Given the description of an element on the screen output the (x, y) to click on. 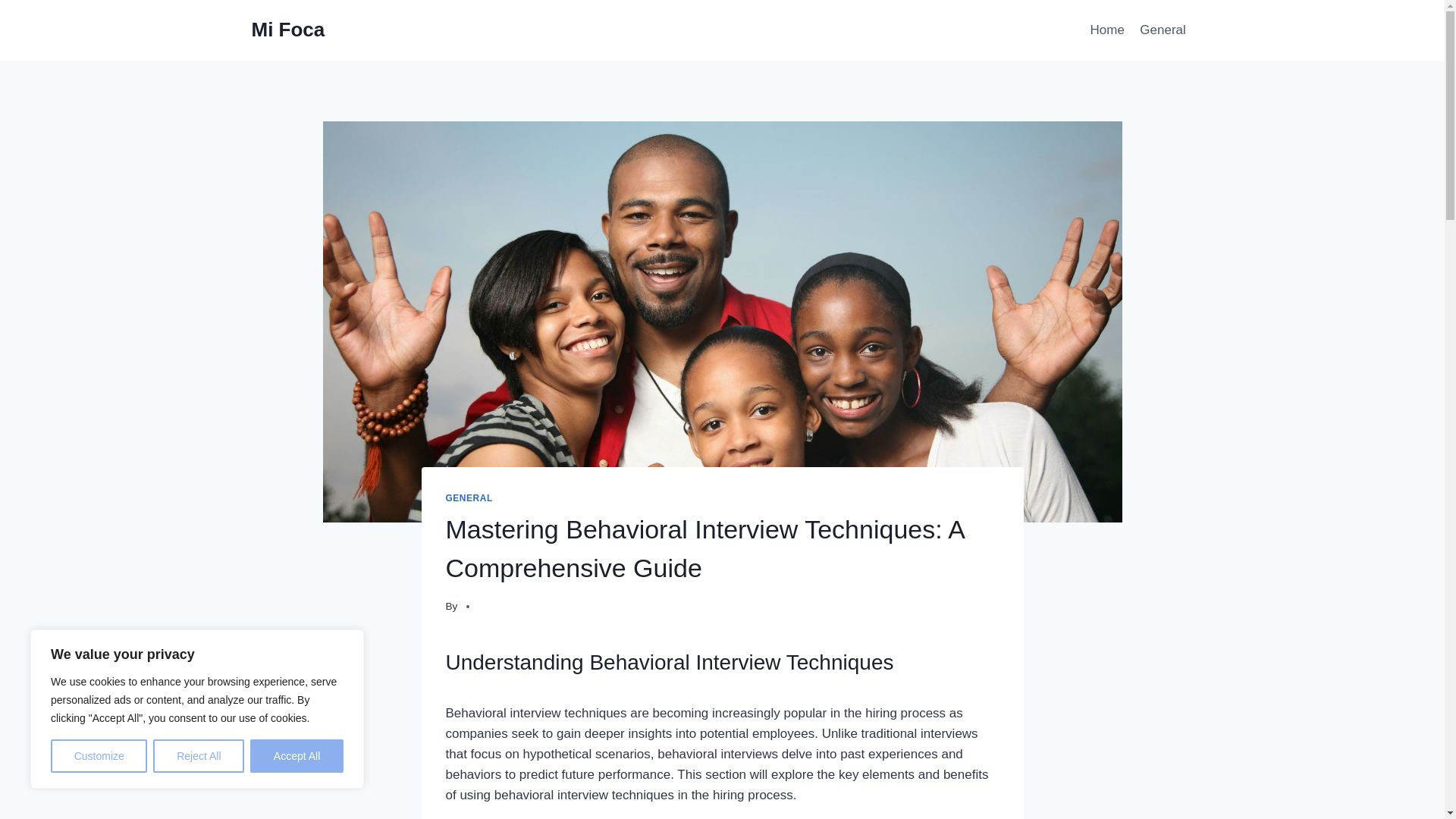
General (1162, 30)
GENERAL (469, 498)
Customize (98, 756)
Reject All (198, 756)
Accept All (296, 756)
Mi Foca (287, 29)
Home (1106, 30)
